Given the description of an element on the screen output the (x, y) to click on. 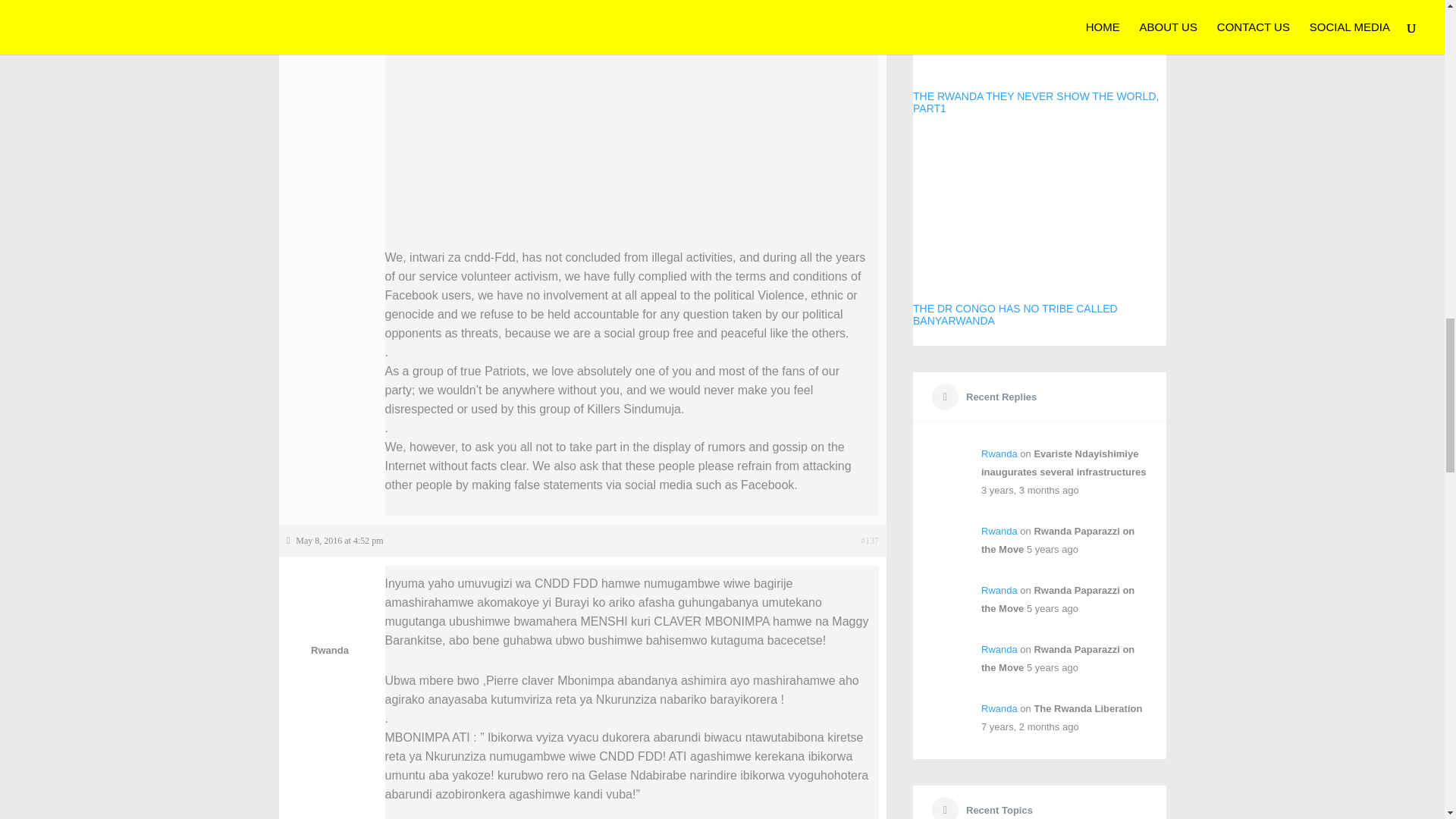
View Rwanda's profile (999, 708)
View Rwanda's profile (999, 453)
View Rwanda's profile (999, 590)
Rwanda (999, 531)
View Rwanda's profile (330, 615)
Rwanda (330, 615)
View Rwanda's profile (999, 531)
THE DR CONGO HAS NO TRIBE CALLED BANYARWANDA (1039, 229)
View Rwanda's profile (999, 649)
Evariste Ndayishimiye inaugurates several infrastructures (1063, 462)
Rwanda (999, 453)
THE RWANDA THEY NEVER SHOW THE WORLD, PART1 (1039, 57)
